Given the description of an element on the screen output the (x, y) to click on. 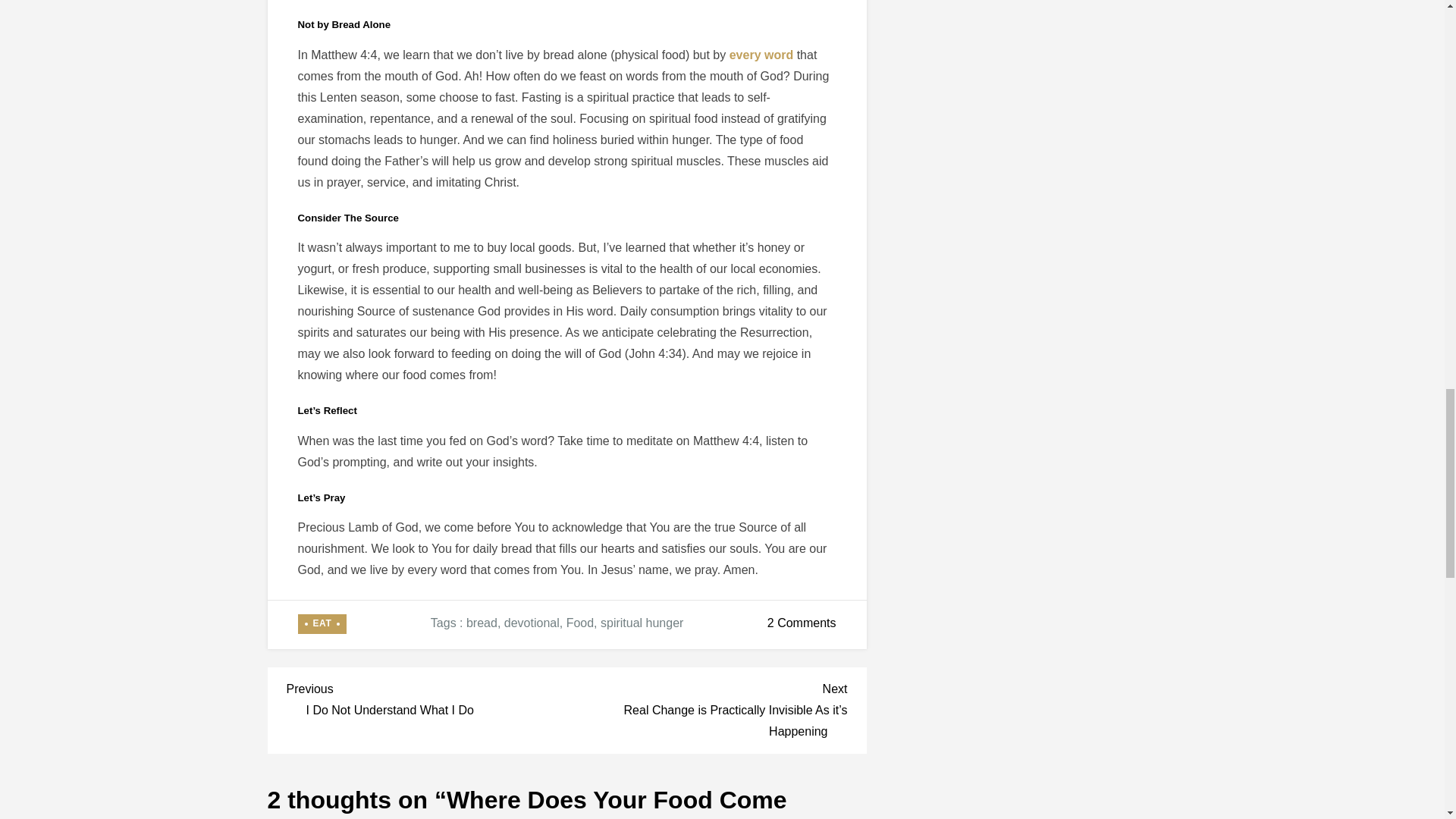
devotional (801, 622)
spiritual hunger (531, 622)
bread (426, 697)
EAT (640, 622)
every word (481, 622)
Food (321, 623)
